Given the description of an element on the screen output the (x, y) to click on. 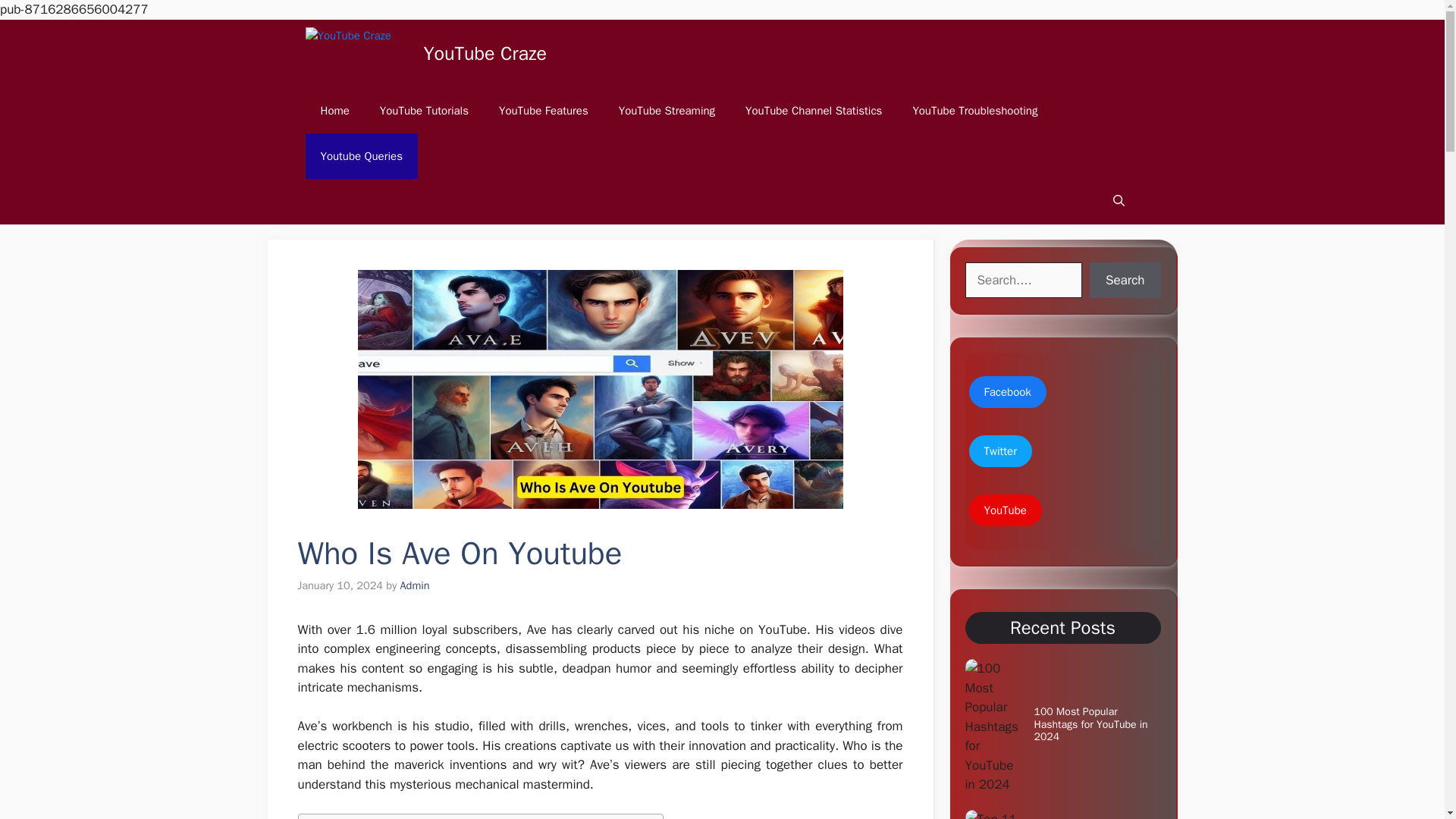
YouTube Features (543, 110)
YouTube Tutorials (424, 110)
Admin (414, 585)
YouTube Troubleshooting (974, 110)
Twitter (1000, 450)
YouTube Craze (485, 53)
Facebook (1007, 391)
YouTube (1005, 510)
YouTube Streaming (667, 110)
100 Most Popular Hashtags for YouTube in 2024 (1090, 724)
Youtube Queries (360, 156)
View all posts by Admin (414, 585)
YouTube Craze (359, 53)
YouTube Channel Statistics (813, 110)
Home (334, 110)
